Given the description of an element on the screen output the (x, y) to click on. 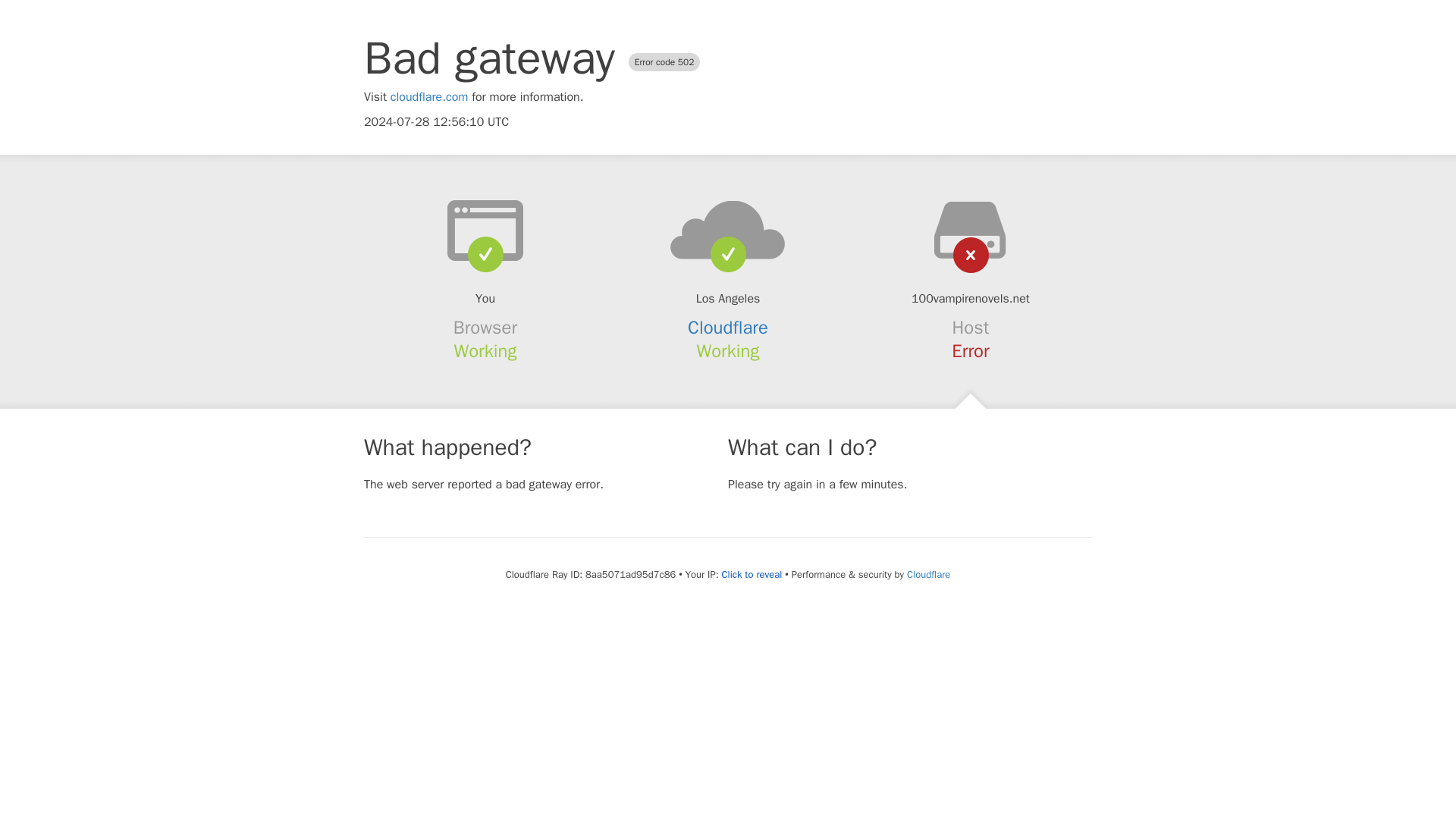
Cloudflare (928, 574)
Cloudflare (727, 327)
cloudflare.com (429, 96)
Click to reveal (750, 574)
